Given the description of an element on the screen output the (x, y) to click on. 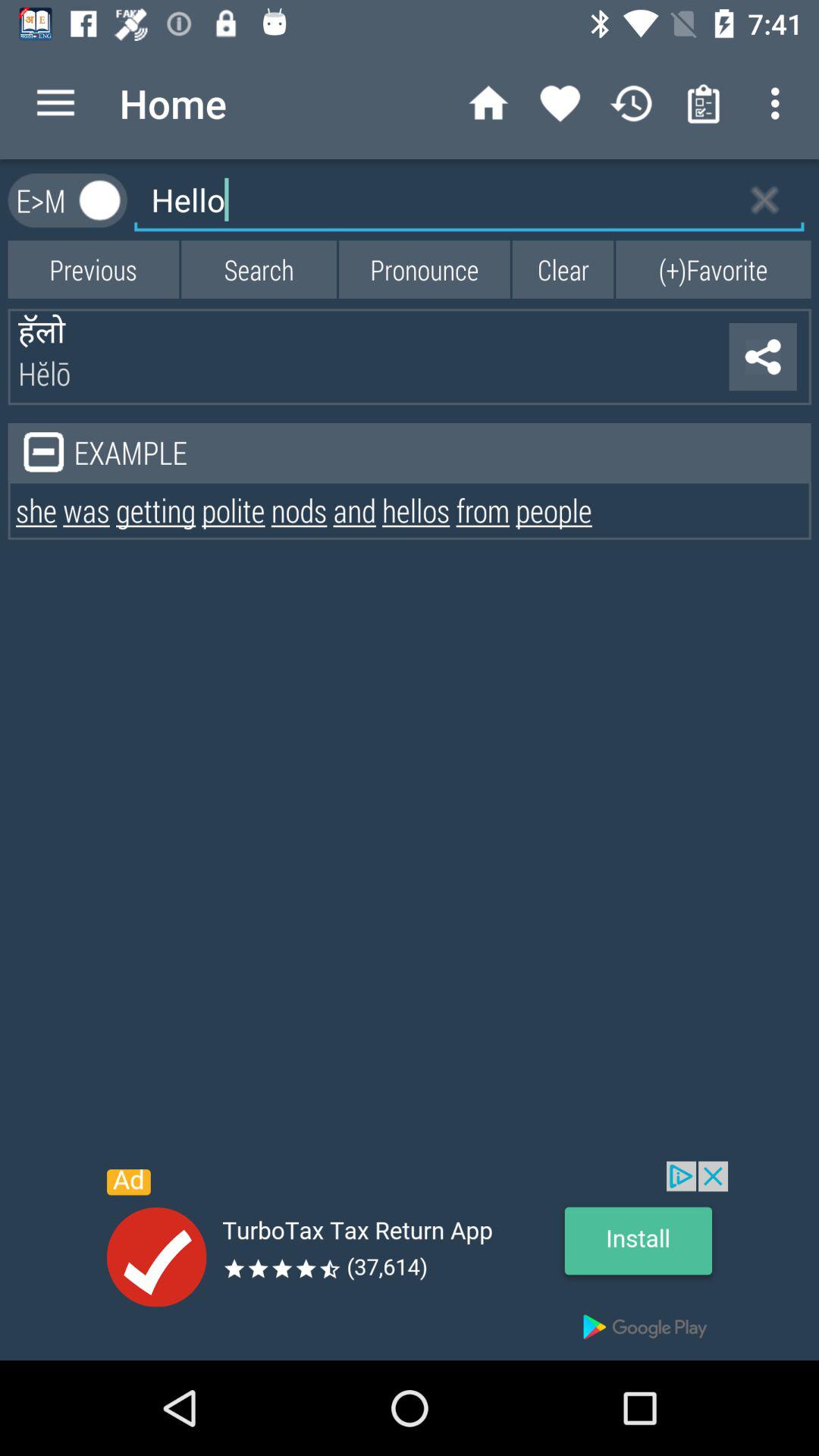
interact with advertisement (409, 1260)
